Given the description of an element on the screen output the (x, y) to click on. 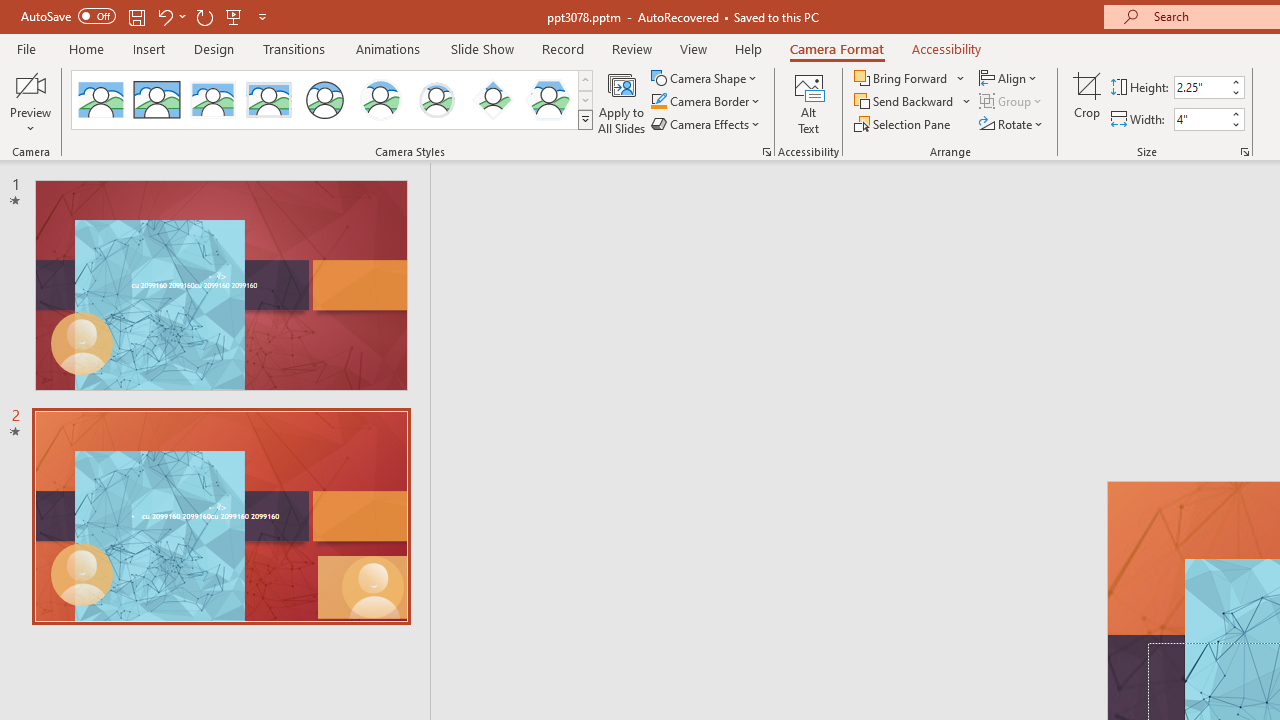
Camera Styles (585, 120)
